Given the description of an element on the screen output the (x, y) to click on. 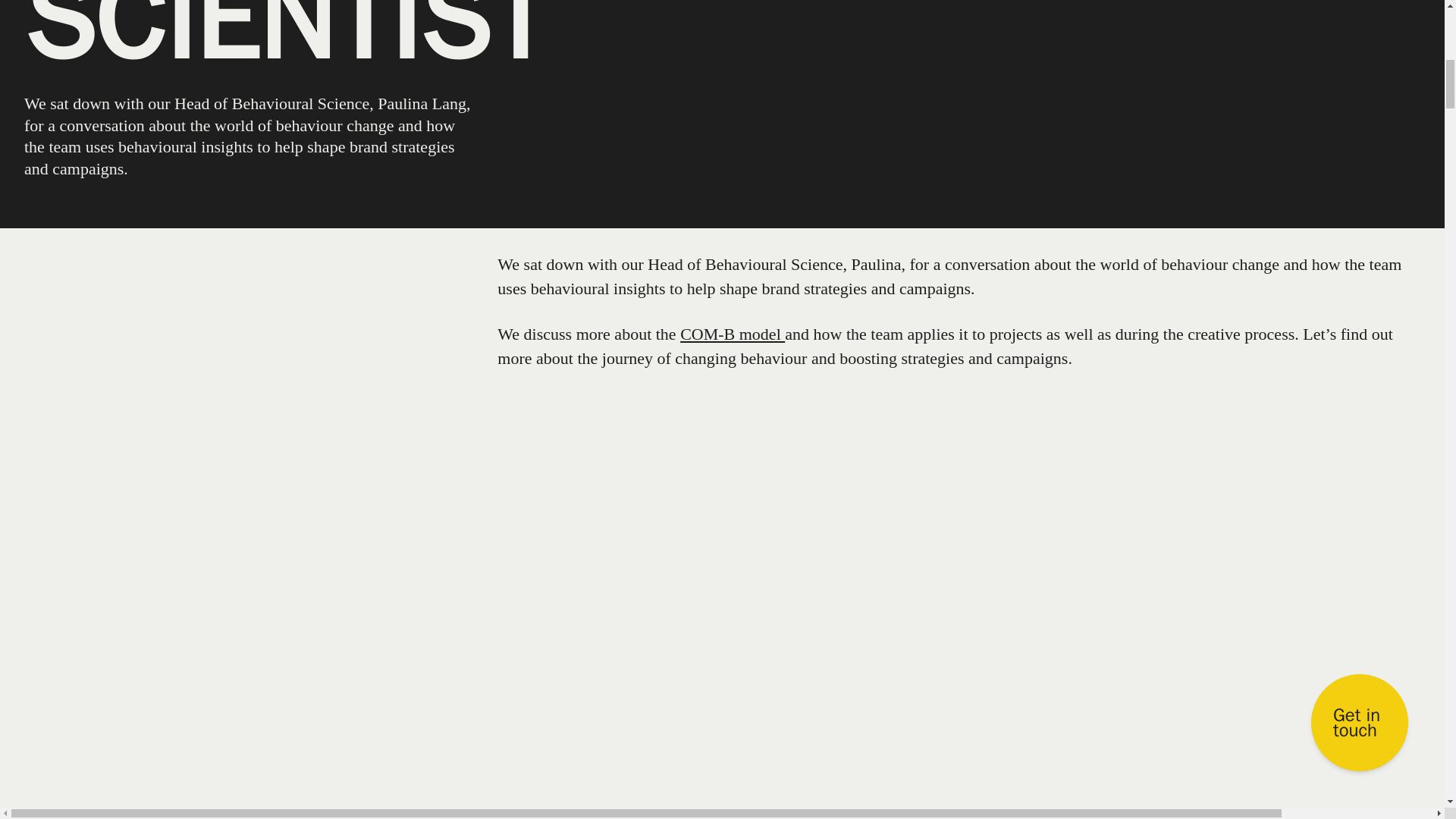
COM-B model (731, 333)
